Given the description of an element on the screen output the (x, y) to click on. 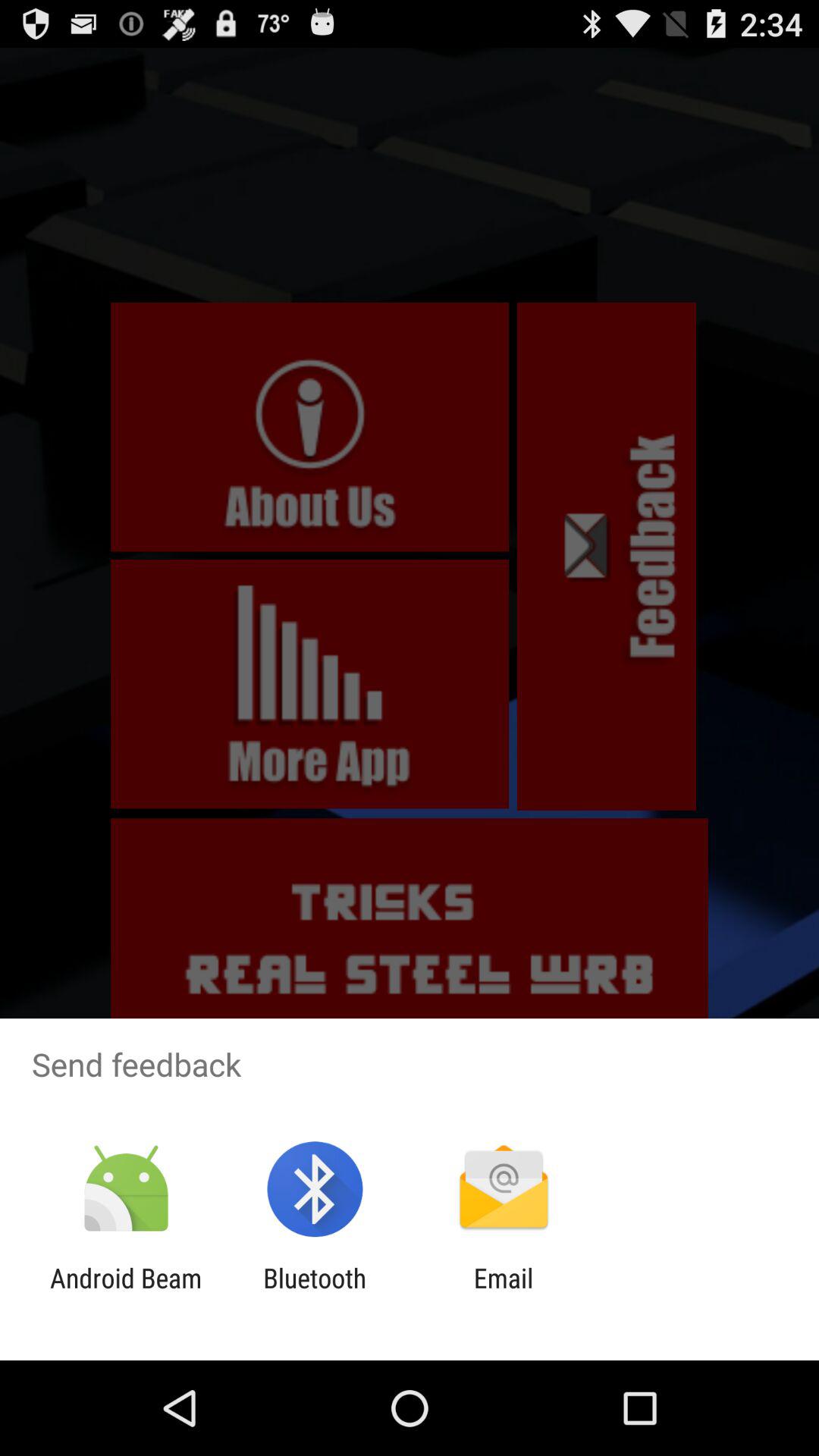
launch the app to the left of the email item (314, 1293)
